Given the description of an element on the screen output the (x, y) to click on. 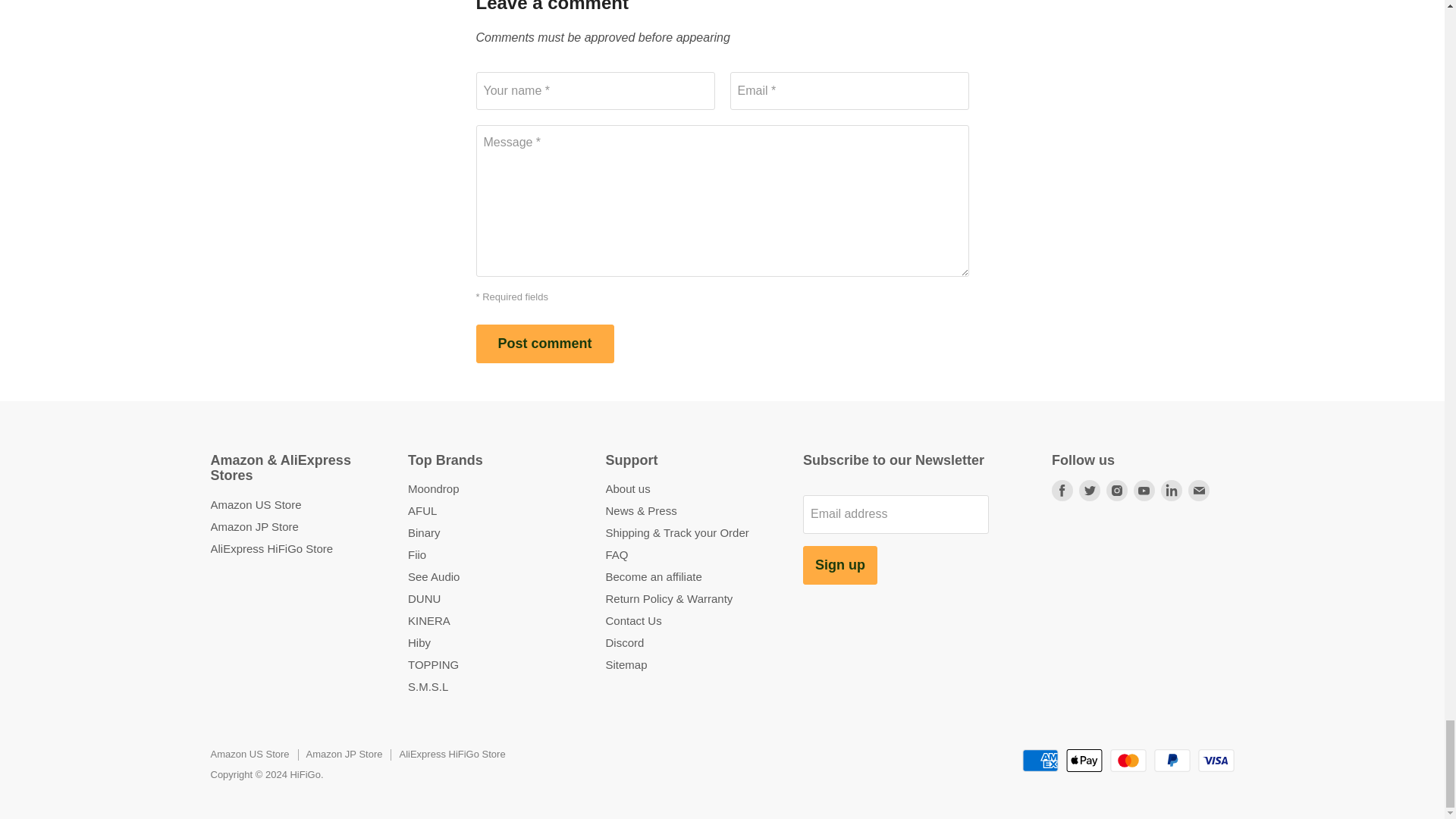
Youtube (1144, 490)
LinkedIn (1171, 490)
Twitter (1089, 490)
Facebook (1061, 490)
Instagram (1117, 490)
E-mail (1198, 490)
